Given the description of an element on the screen output the (x, y) to click on. 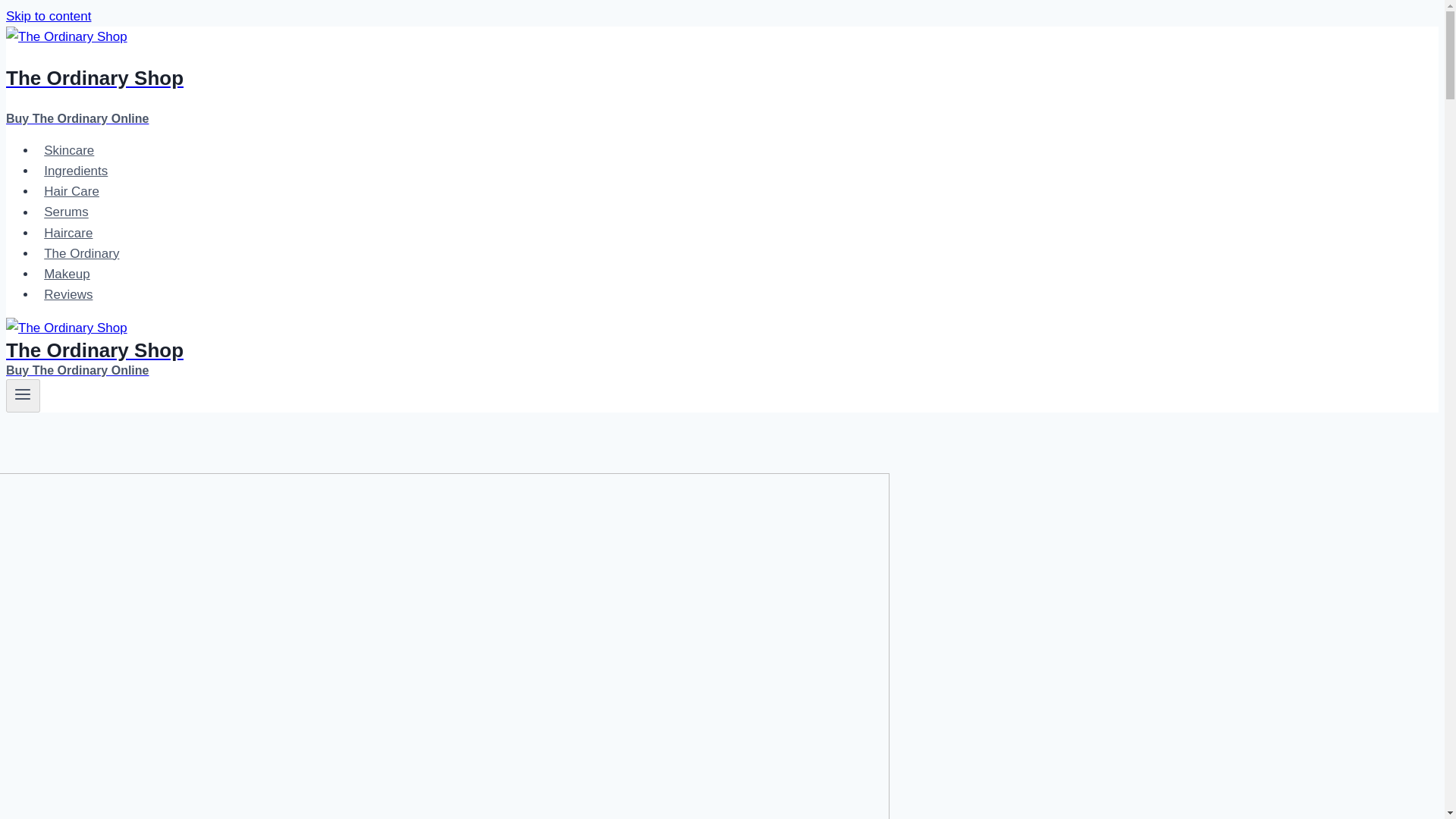
Haircare (68, 233)
The Ordinary (82, 253)
Skip to content (47, 16)
Serums (66, 211)
Hair Care (71, 191)
Skip to content (47, 16)
Toggle Menu (22, 393)
Makeup (494, 78)
Ingredients (66, 274)
